Given the description of an element on the screen output the (x, y) to click on. 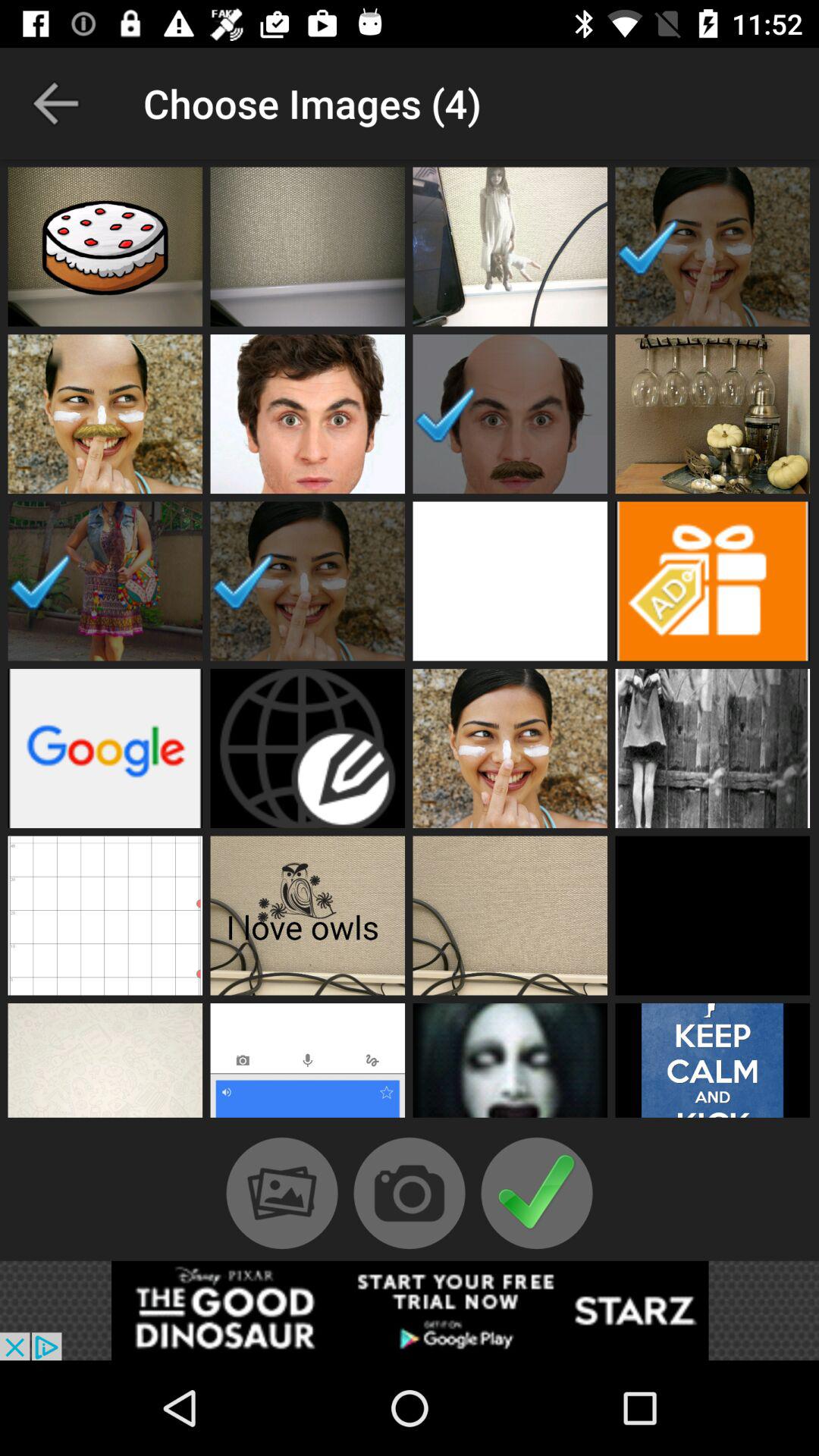
go back (55, 103)
